Given the description of an element on the screen output the (x, y) to click on. 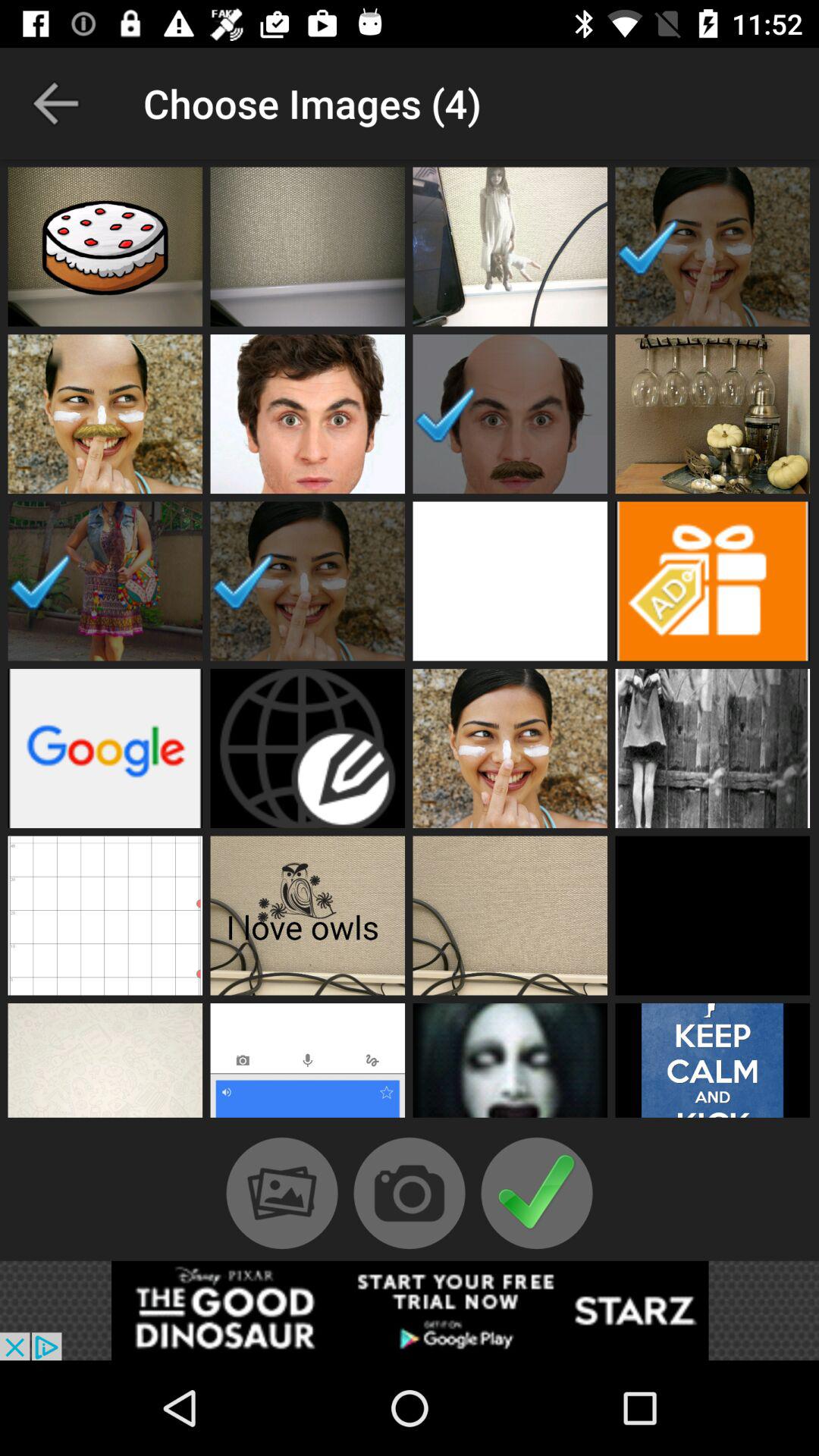
go back (55, 103)
